Given the description of an element on the screen output the (x, y) to click on. 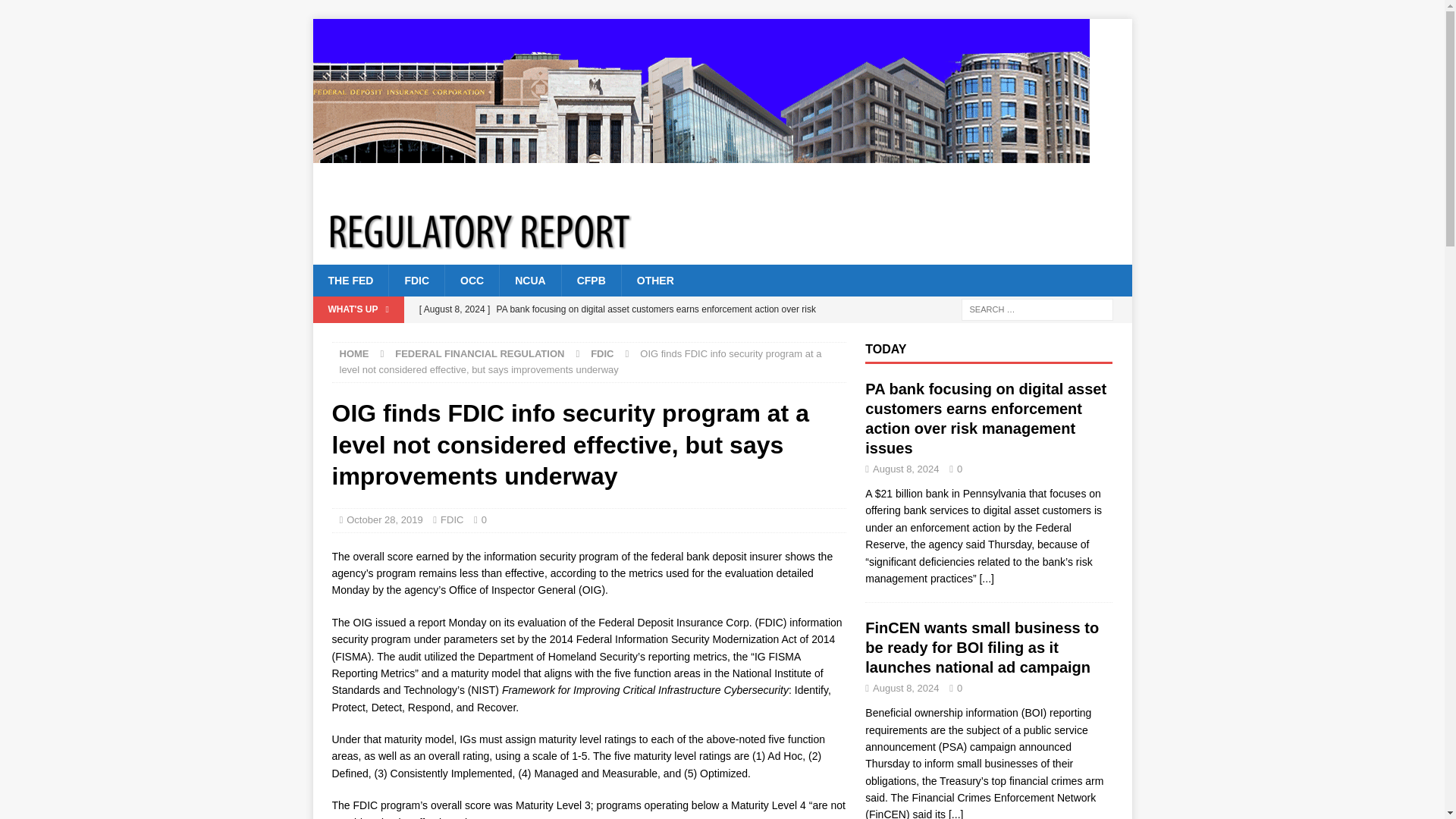
October 28, 2019 (384, 519)
THE FED (350, 280)
NCUA (529, 280)
OCC (471, 280)
Regulatory Report (701, 190)
HOME (354, 353)
FDIC (416, 280)
FDIC (601, 353)
OTHER (654, 280)
CFPB (590, 280)
